Given the description of an element on the screen output the (x, y) to click on. 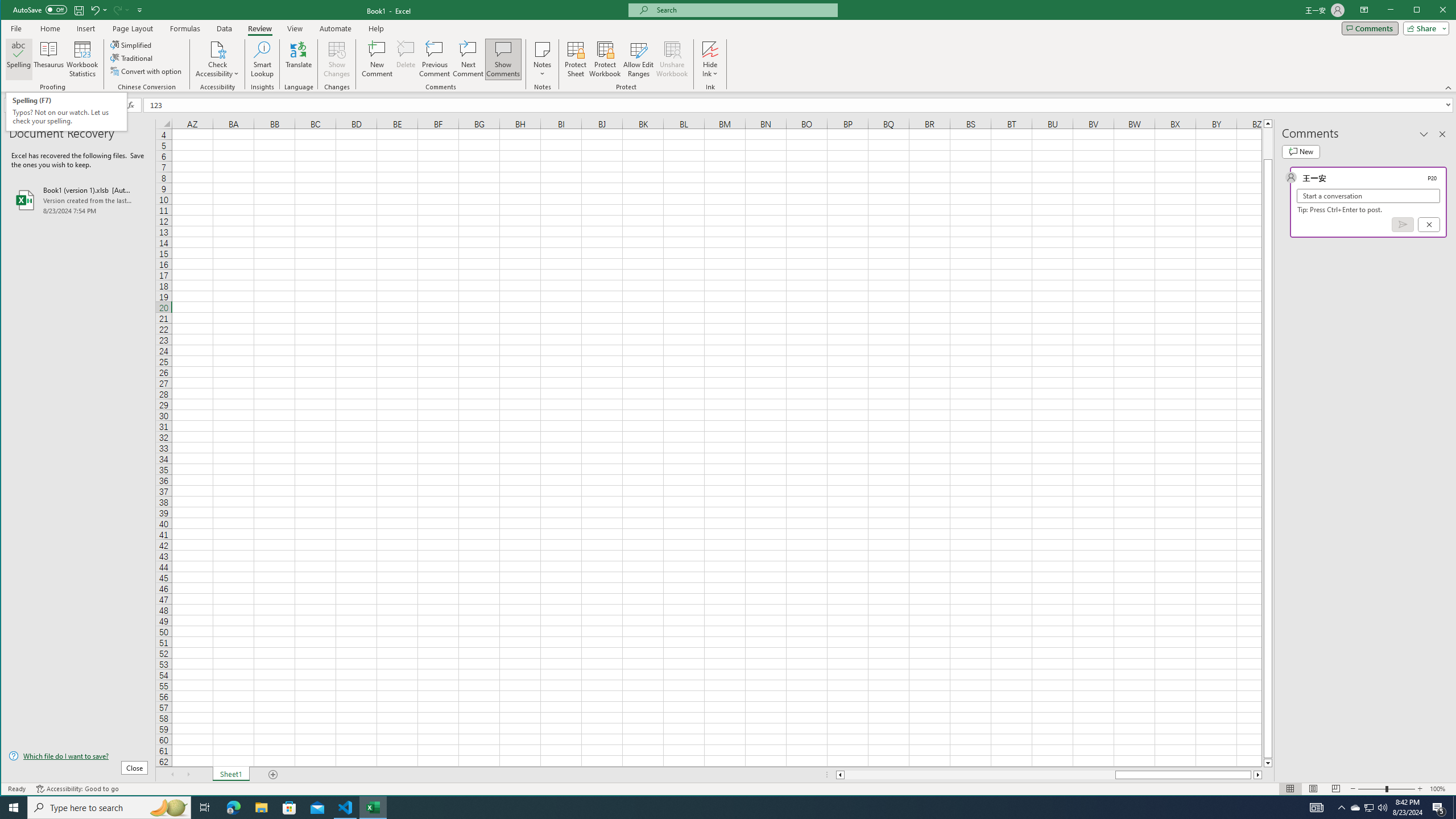
Action Center, 5 new notifications (1439, 807)
Simplified (132, 44)
